Given the description of an element on the screen output the (x, y) to click on. 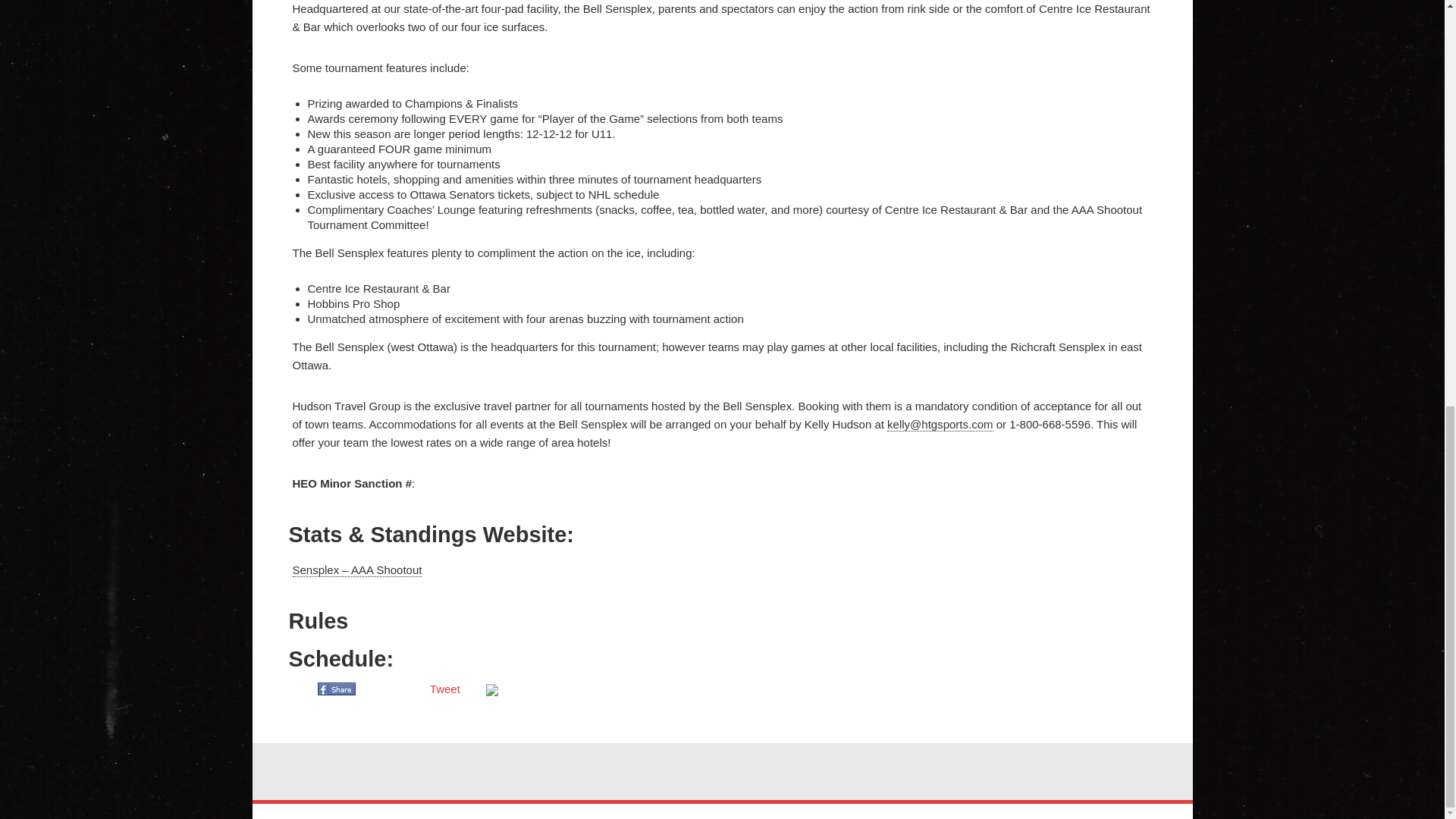
Share on Facebook (343, 689)
